Given the description of an element on the screen output the (x, y) to click on. 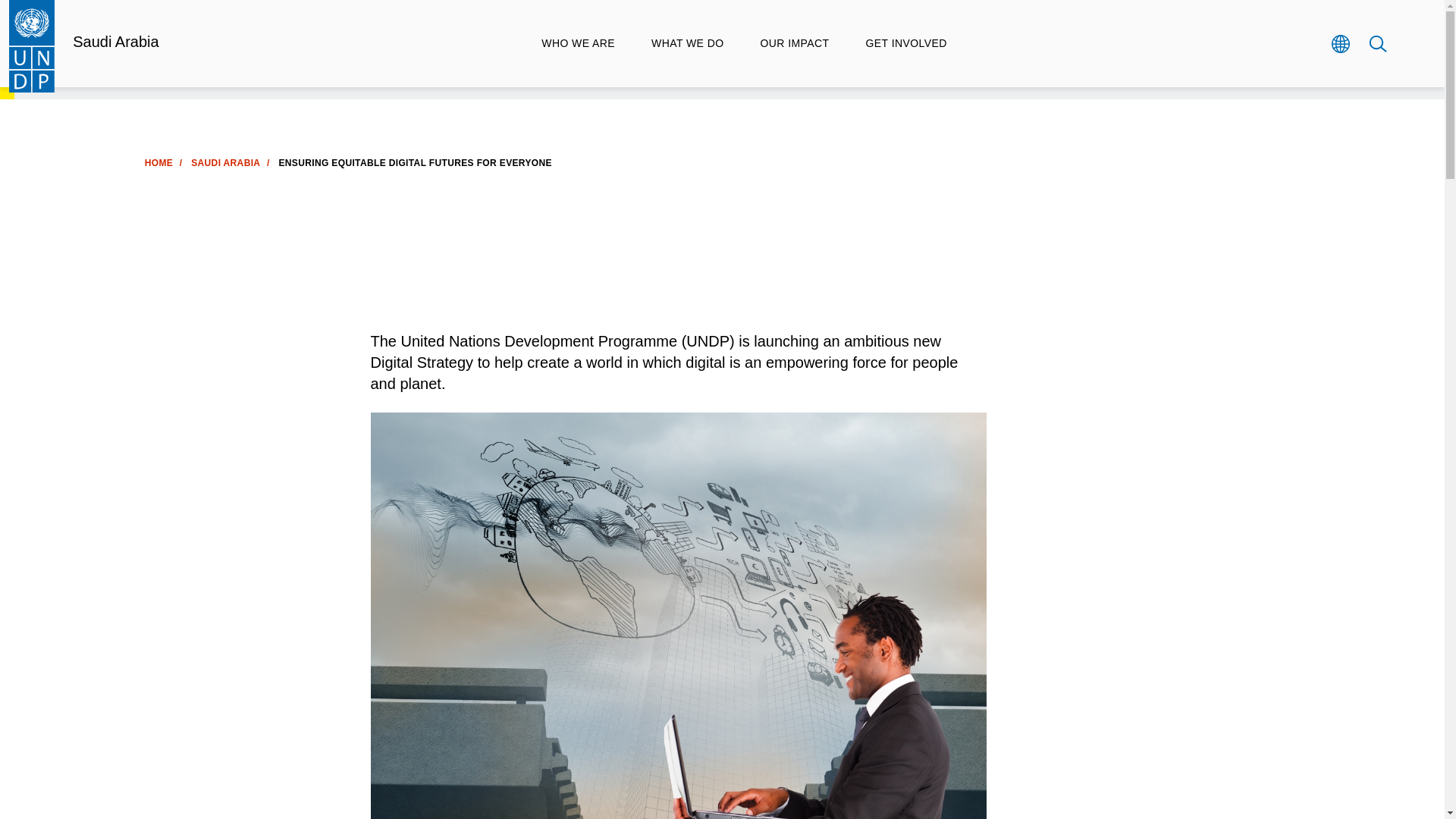
Saudi Arabia (115, 41)
Global (1339, 43)
OUR IMPACT (794, 43)
WHO WE ARE (577, 43)
Search (1377, 43)
GET INVOLVED (906, 43)
WHAT WE DO (687, 43)
